Given the description of an element on the screen output the (x, y) to click on. 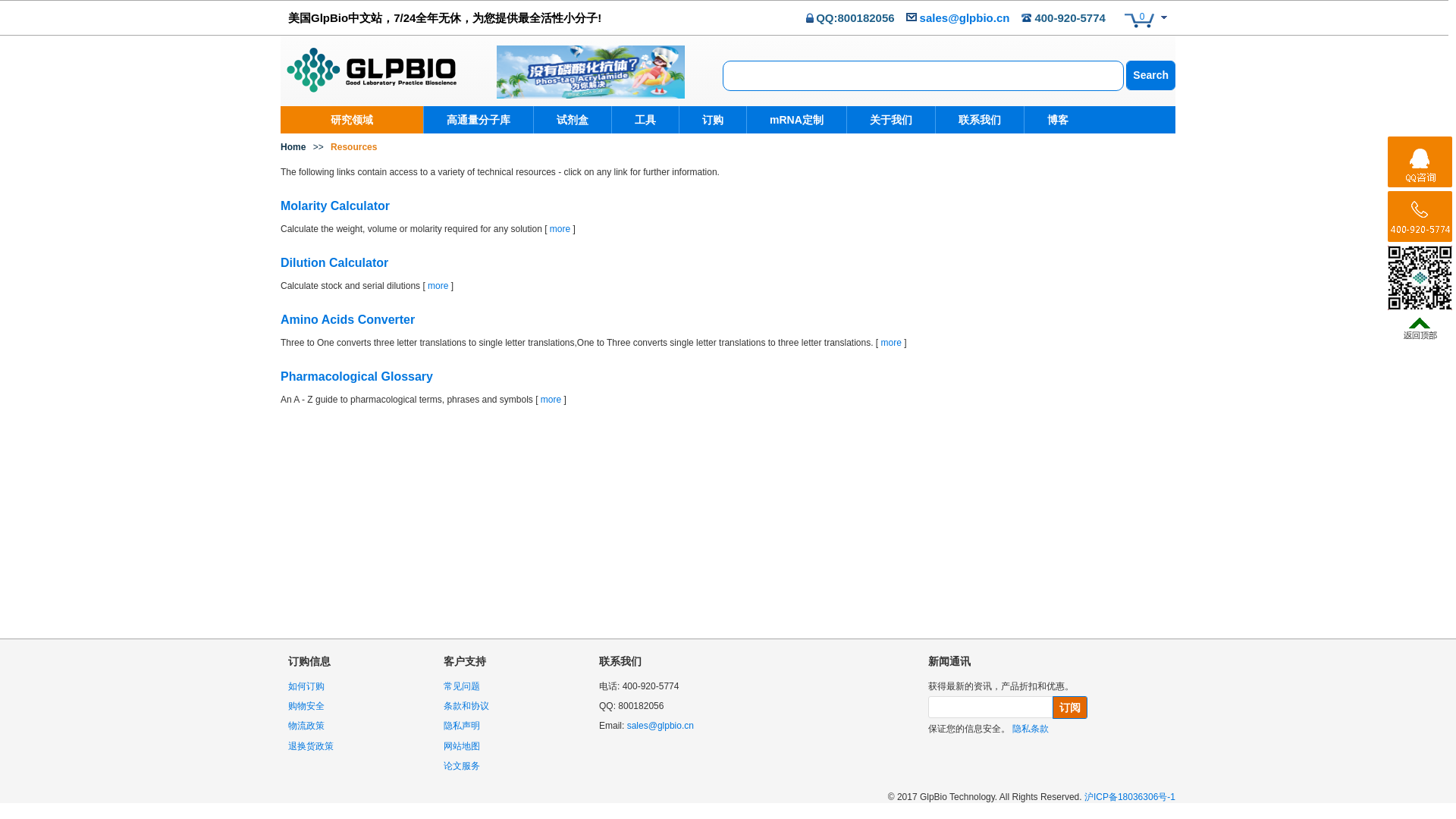
QQ:800182056 (854, 17)
view dilution calculator (334, 262)
view pharmacological glossary (550, 398)
Search (1149, 75)
Email Us (965, 17)
view dilution calculator (438, 285)
Search (1149, 75)
view peptide nomenclature guide (347, 318)
GlpBio (370, 66)
view Amino Acids Converter (890, 342)
